Given the description of an element on the screen output the (x, y) to click on. 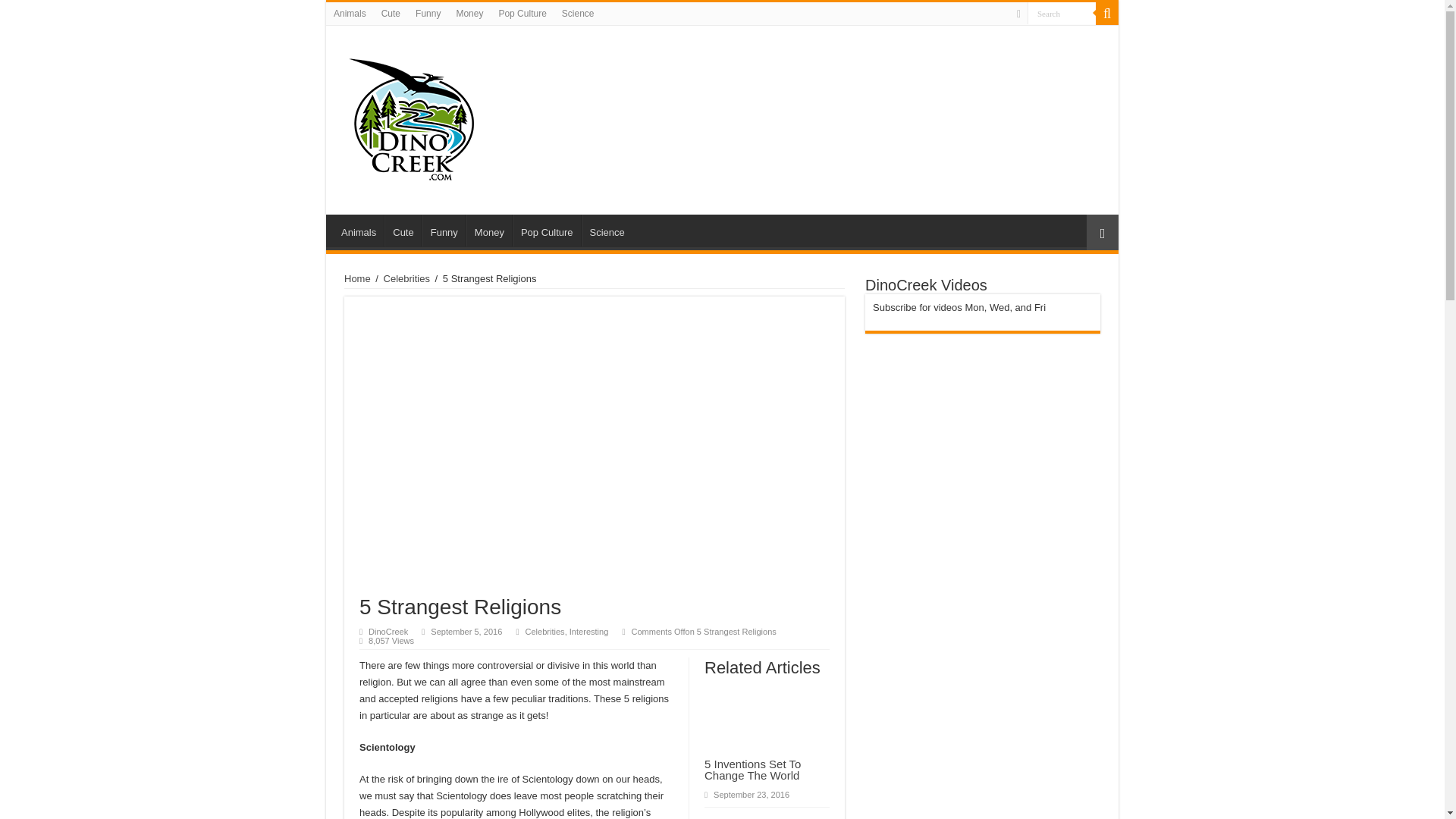
Home (357, 278)
Science (578, 13)
Search (1061, 13)
Pop Culture (546, 230)
Animals (358, 230)
Money (488, 230)
Animals (350, 13)
Celebrities (406, 278)
Random Article (1102, 232)
Pop Culture (521, 13)
